Given the description of an element on the screen output the (x, y) to click on. 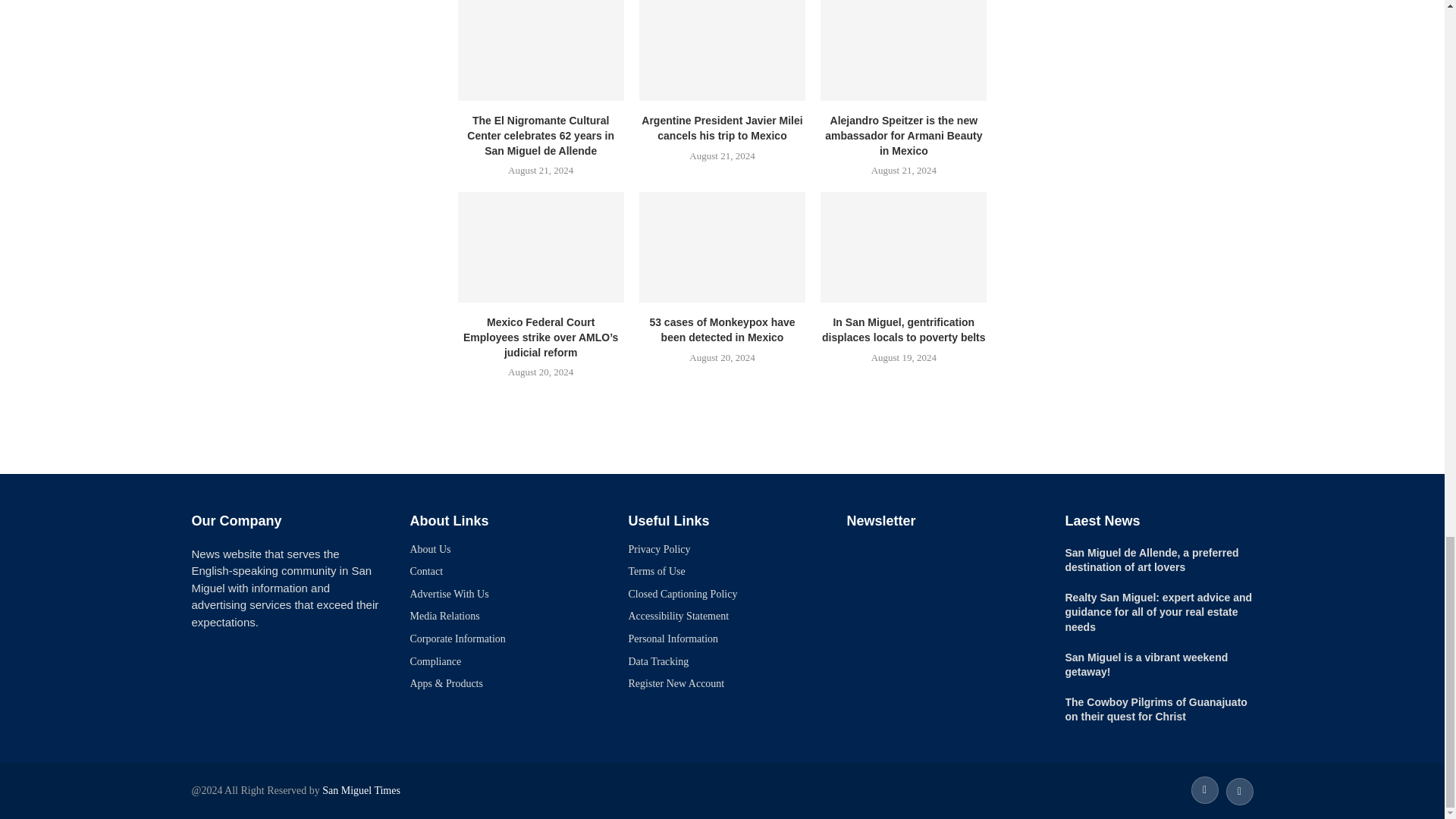
53 cases of Monkeypox have been detected in Mexico (722, 246)
Argentine President Javier Milei cancels his trip to Mexico (722, 50)
